Given the description of an element on the screen output the (x, y) to click on. 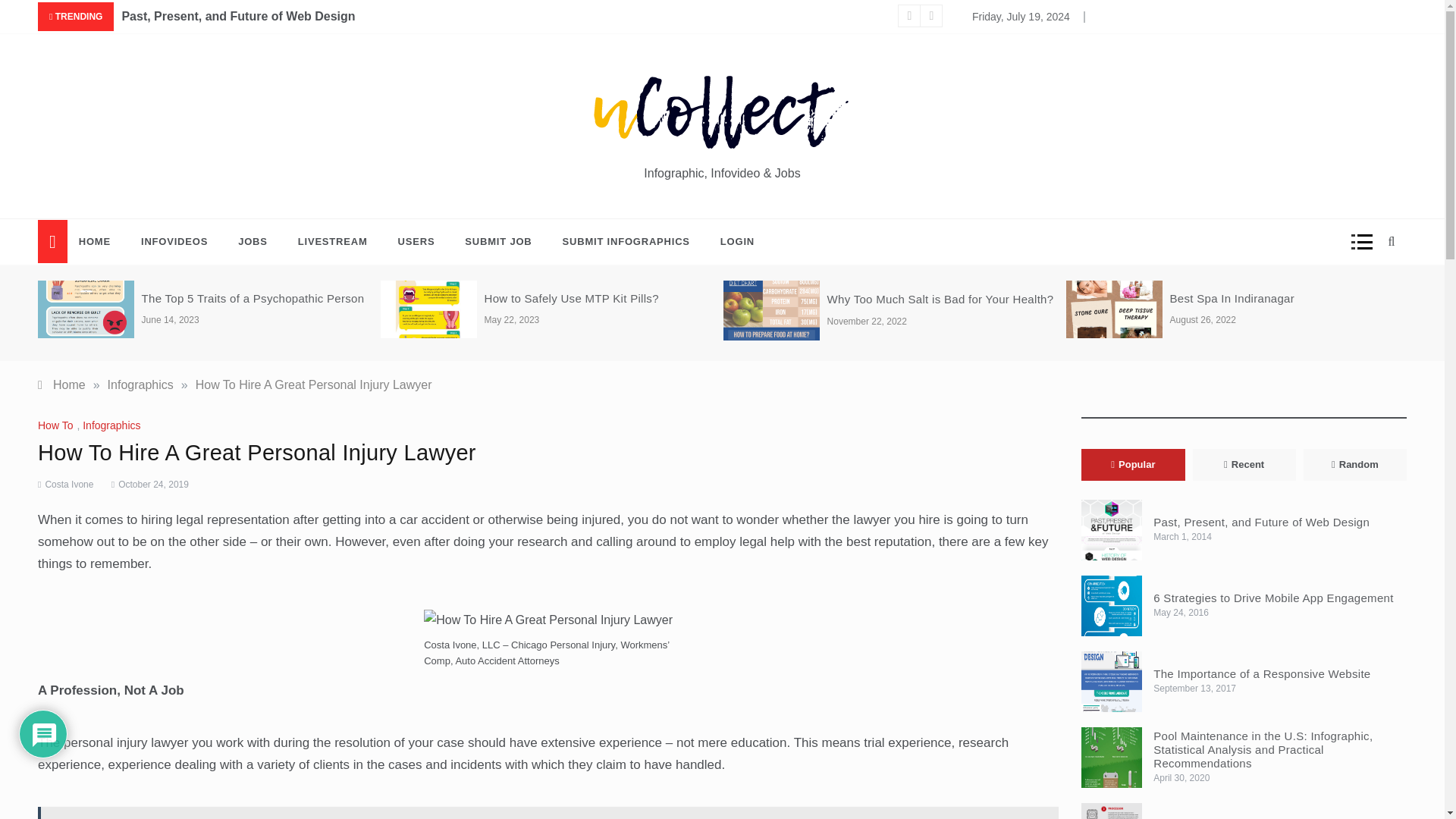
Past, Present, and Future of Web Design (237, 16)
6 Strategies to Drive Mobile App Engagement (1080, 16)
